Given the description of an element on the screen output the (x, y) to click on. 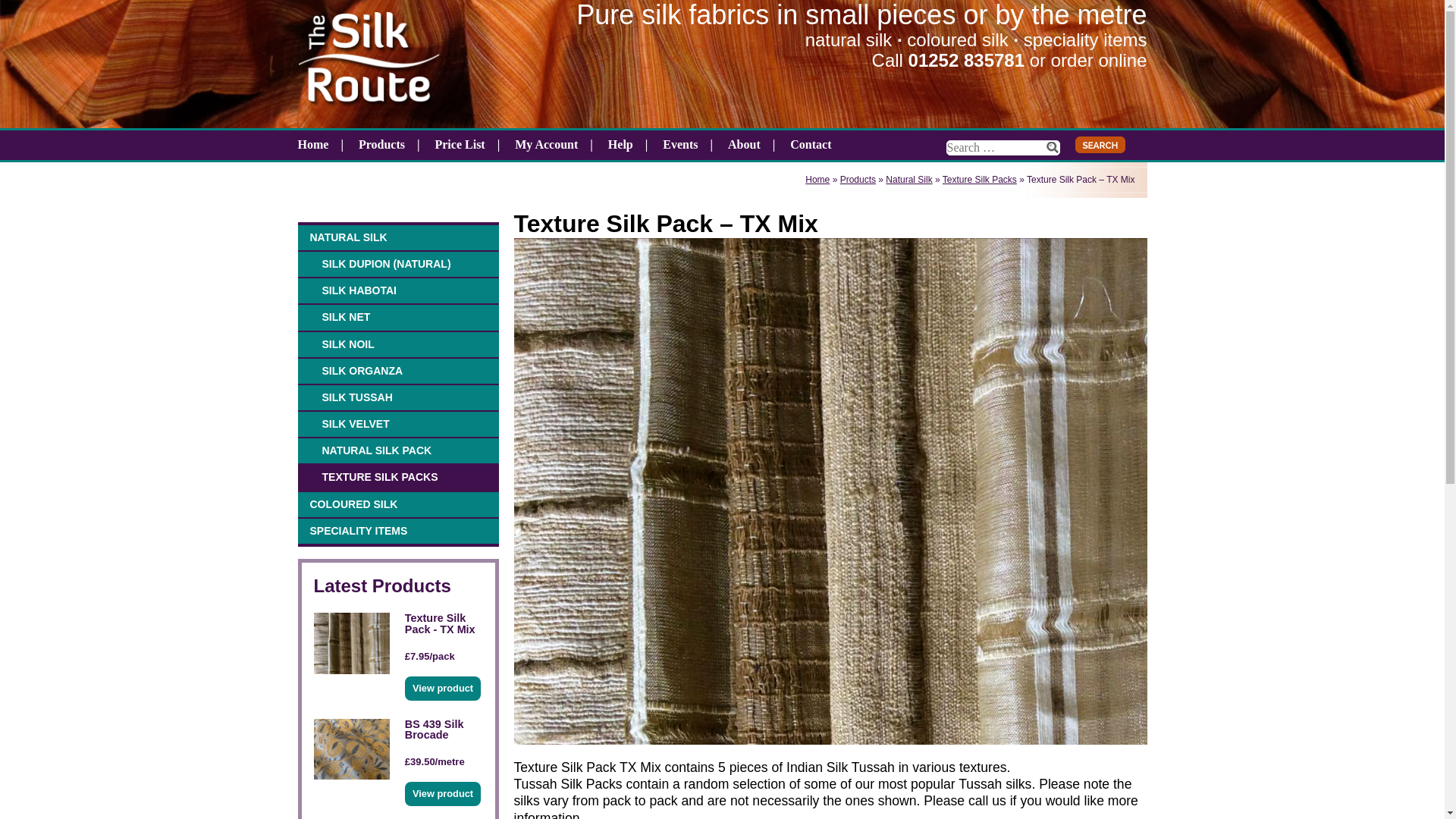
View product (442, 688)
Events (679, 144)
Products (381, 144)
BS 439 Silk Brocade (352, 749)
SILK NET (397, 316)
The Silk Route (370, 115)
NATURAL SILK (397, 237)
Products (858, 179)
About (744, 144)
Texture Silk Pack - TX Mix (442, 623)
NATURAL SILK PACK (397, 450)
SPECIALITY ITEMS (397, 530)
Price List (459, 144)
Texture Silk Pack - TX Mix (352, 642)
Help (620, 144)
